Given the description of an element on the screen output the (x, y) to click on. 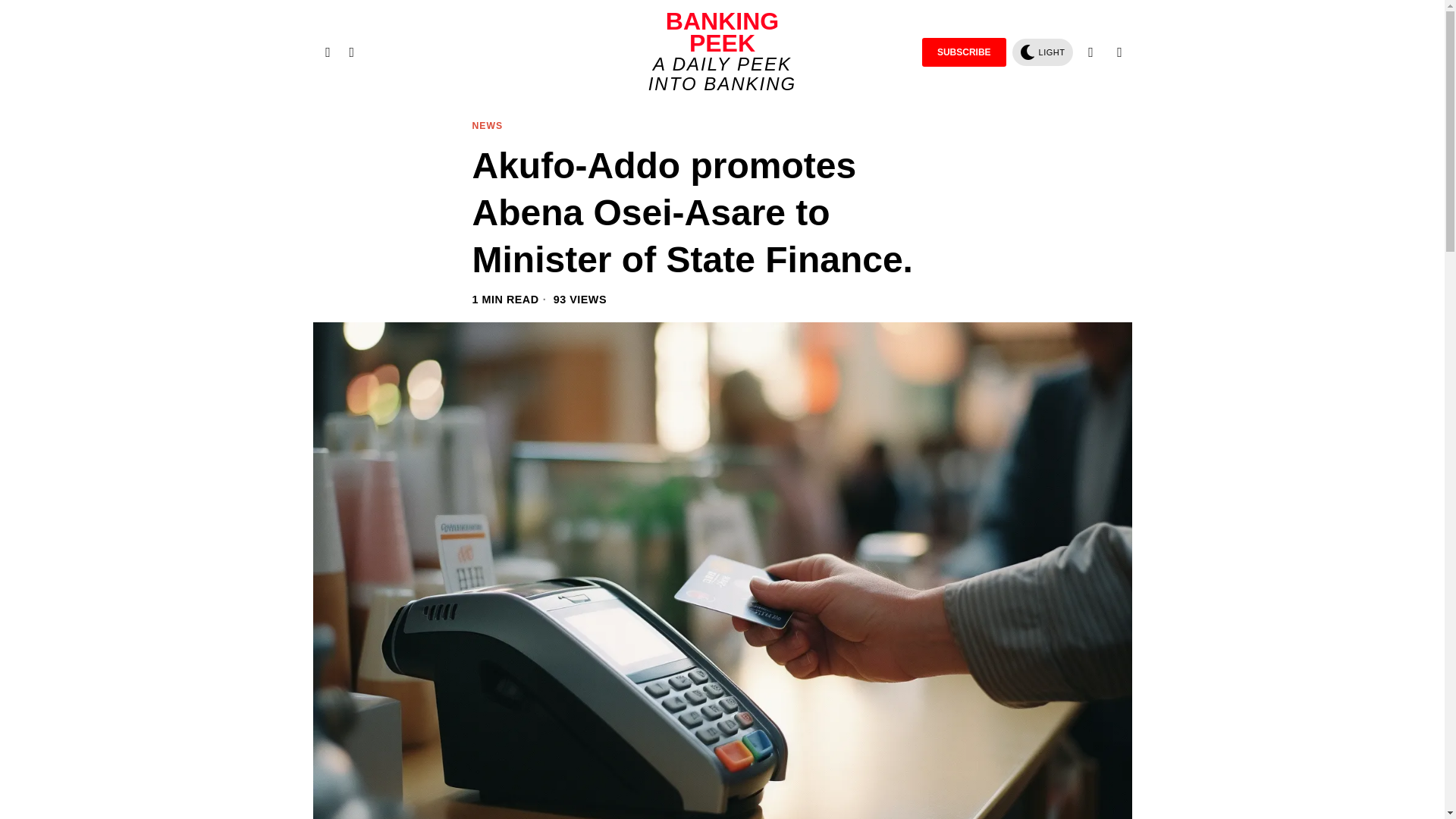
NEWS (486, 126)
SUBSCRIBE (963, 51)
BANKING PEEK (721, 32)
